Given the description of an element on the screen output the (x, y) to click on. 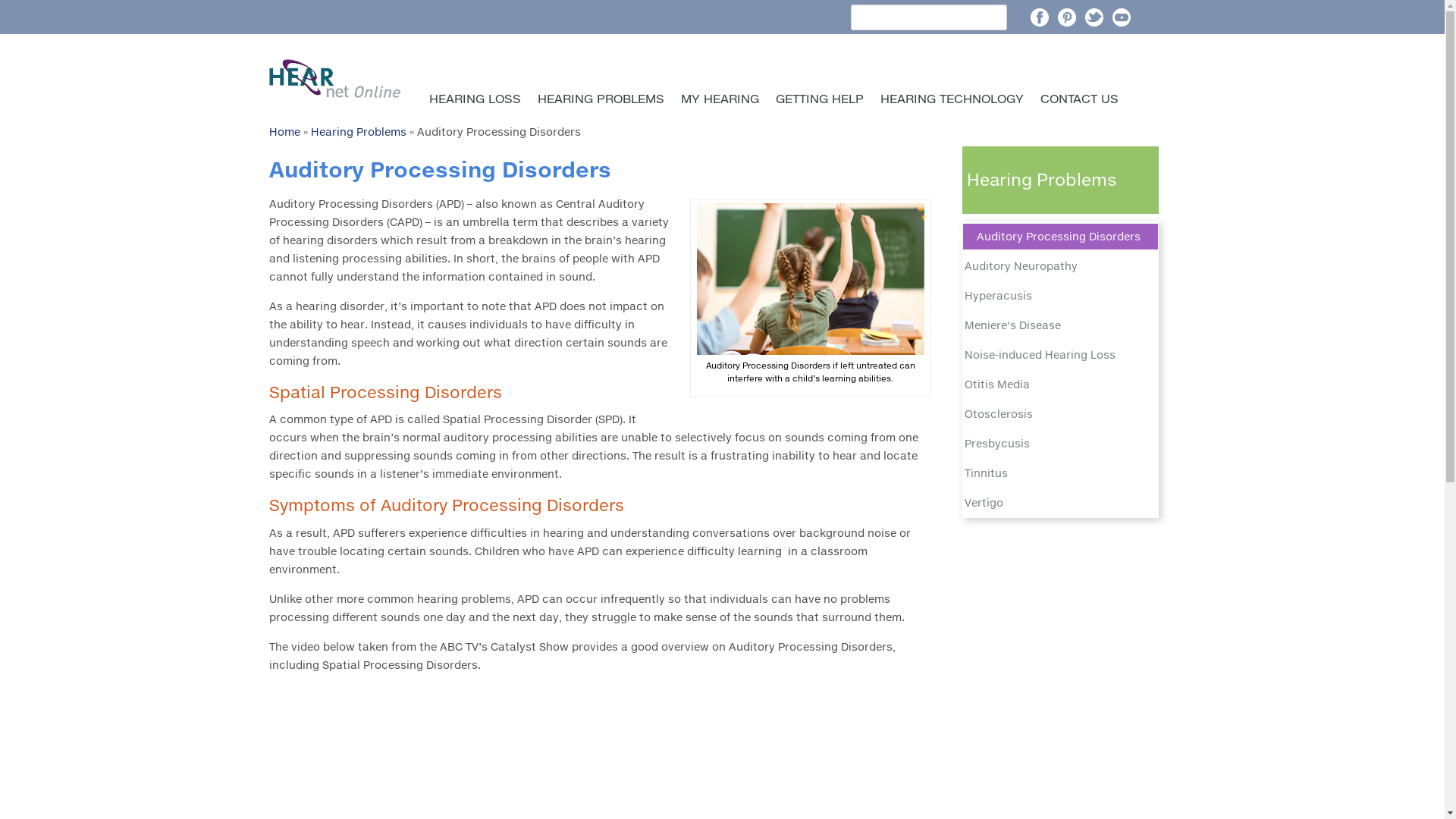
Vertigo Element type: text (1060, 502)
CONTACT US Element type: text (1078, 98)
Meniere's Disease Element type: text (1060, 325)
HEARING TECHNOLOGY Element type: text (952, 98)
HEARING LOSS Element type: text (474, 98)
Home Element type: text (283, 131)
Tinnitus Element type: text (1060, 473)
Hearing Problems Element type: text (358, 131)
Hyperacusis Element type: text (1060, 295)
HEARING PROBLEMS Element type: text (600, 98)
Auditory Processing Disorders Element type: text (1060, 236)
Otitis Media Element type: text (1060, 384)
Auditory Neuropathy Element type: text (1060, 266)
Presbycusis Element type: text (1060, 443)
Otosclerosis Element type: text (1060, 413)
MY HEARING Element type: text (718, 98)
Noise-induced Hearing Loss Element type: text (1060, 354)
GETTING HELP Element type: text (819, 98)
